Given the description of an element on the screen output the (x, y) to click on. 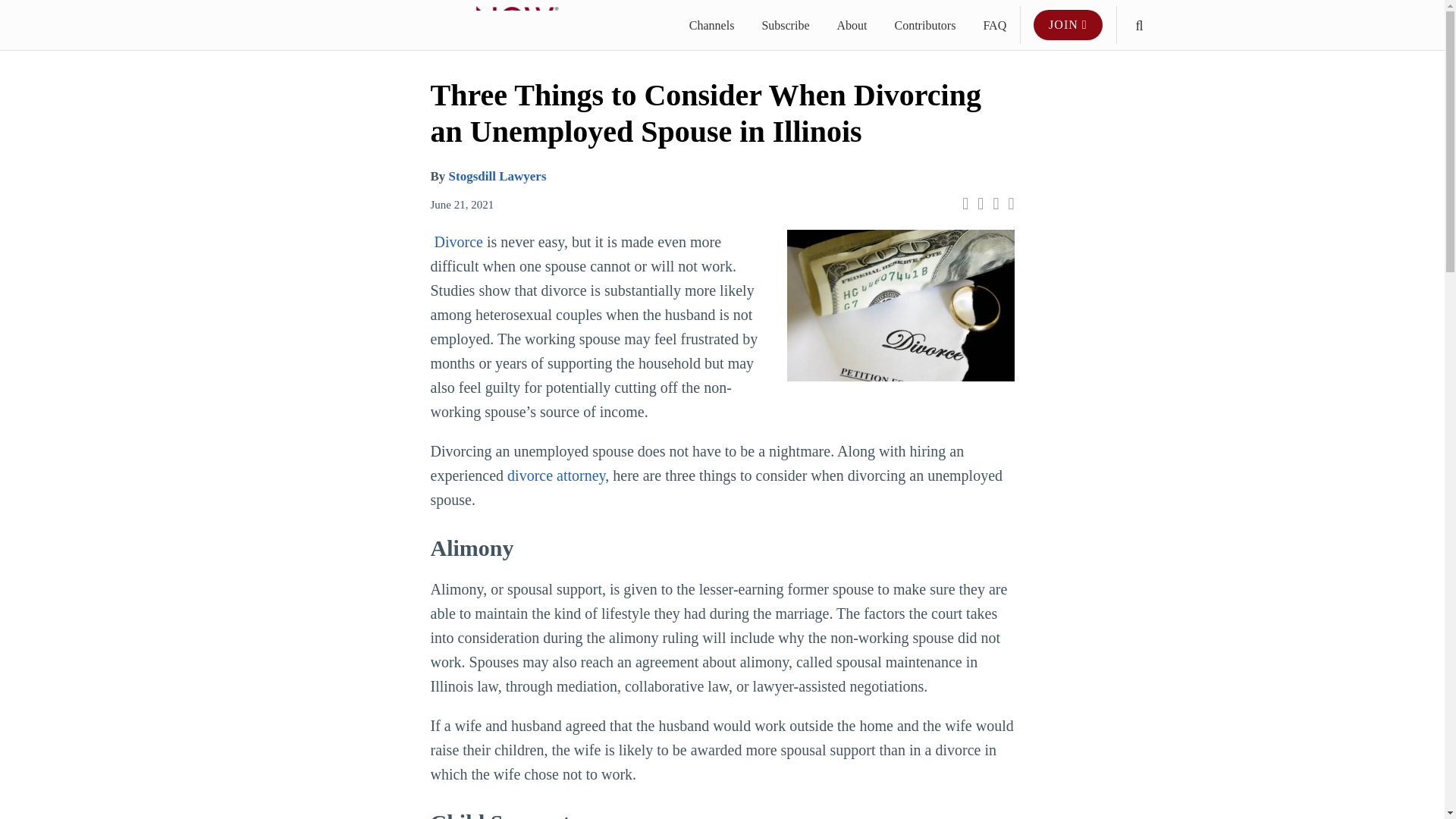
Share this post on LinkedIn (1010, 203)
Like this post (995, 203)
Stogsdill Lawyers (497, 175)
FAQ (994, 25)
Divorce (457, 241)
divorce attorney (555, 475)
Email this post (965, 203)
Channels (711, 25)
Tweet this post (980, 203)
JOIN (1067, 24)
Contributors (924, 25)
Subscribe (785, 25)
About (850, 25)
